Given the description of an element on the screen output the (x, y) to click on. 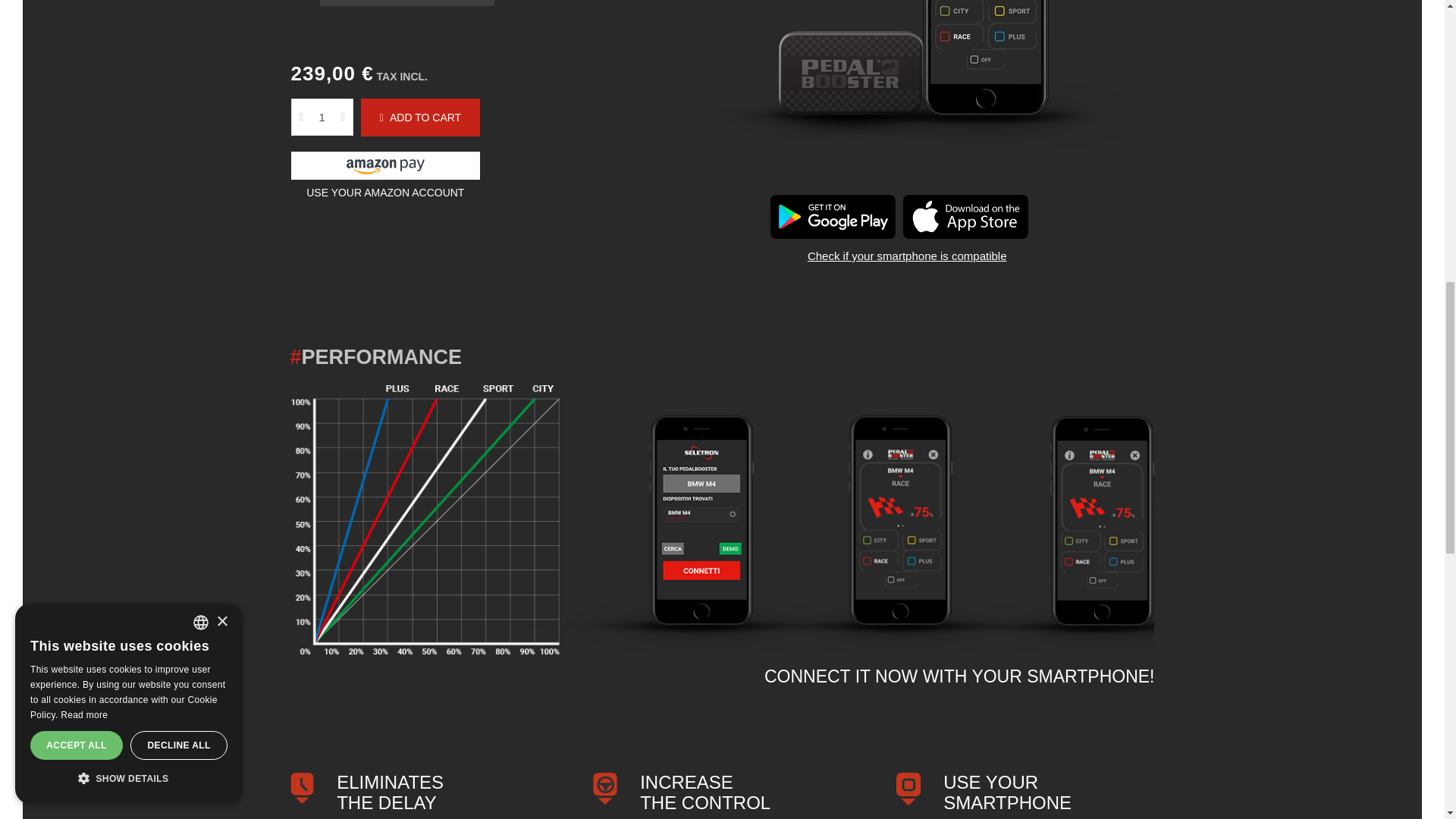
1 (321, 116)
